Given the description of an element on the screen output the (x, y) to click on. 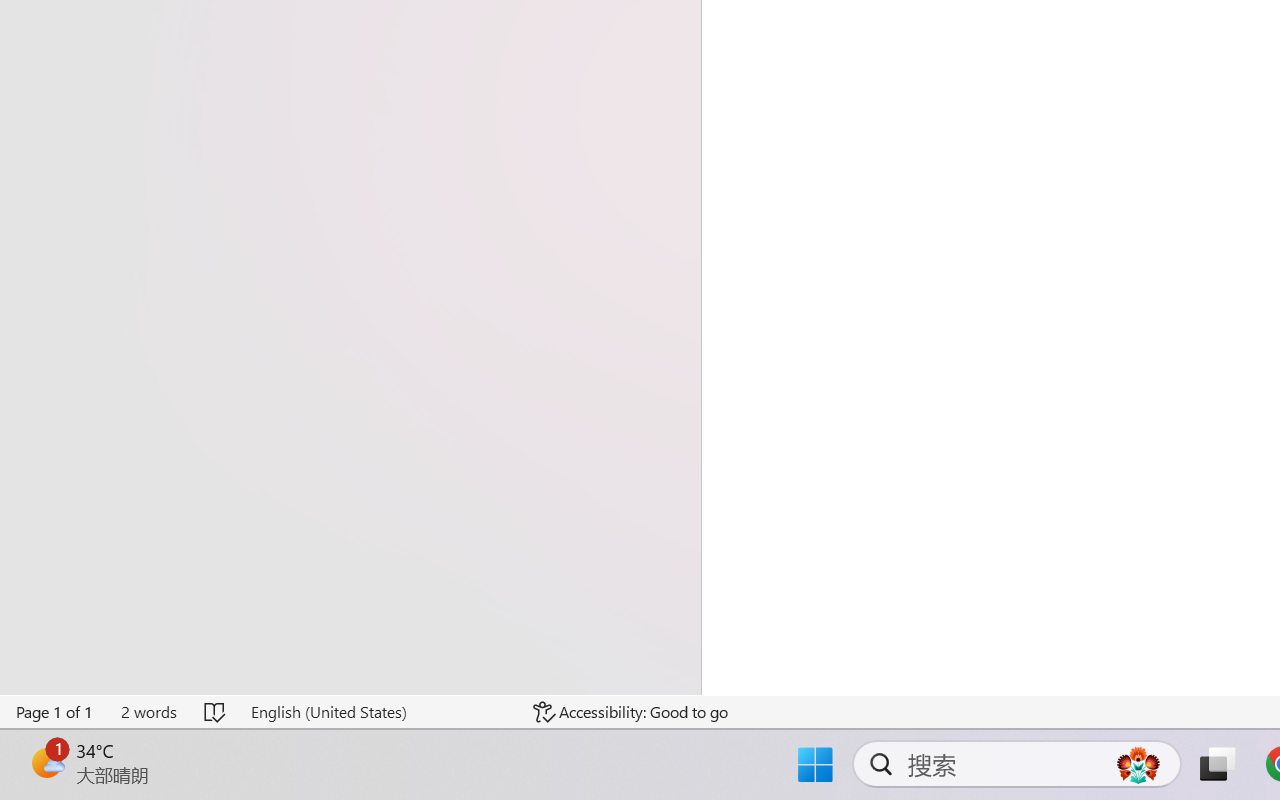
Page Number Page 1 of 1 (55, 712)
